Given the description of an element on the screen output the (x, y) to click on. 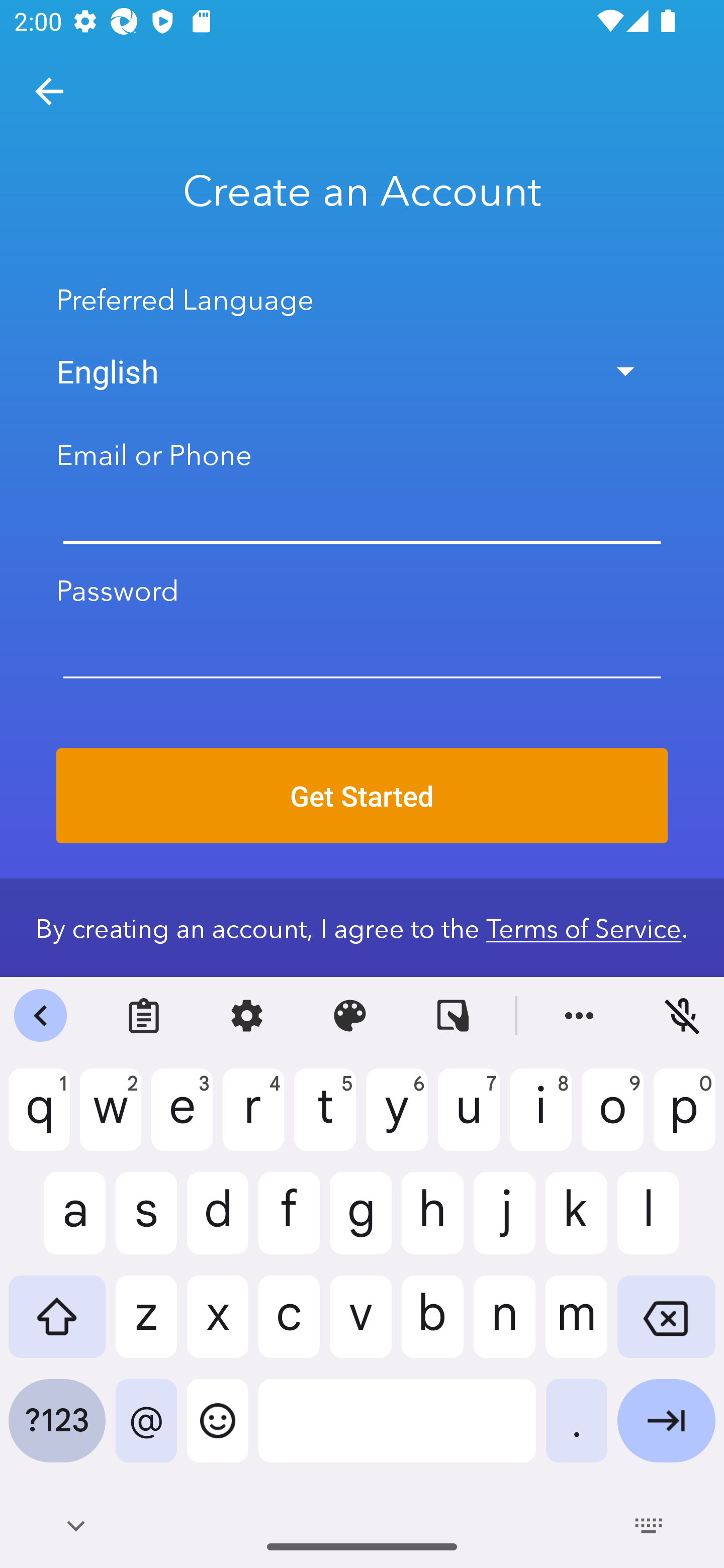
Navigate up (49, 91)
English (361, 370)
Get Started (361, 795)
